Given the description of an element on the screen output the (x, y) to click on. 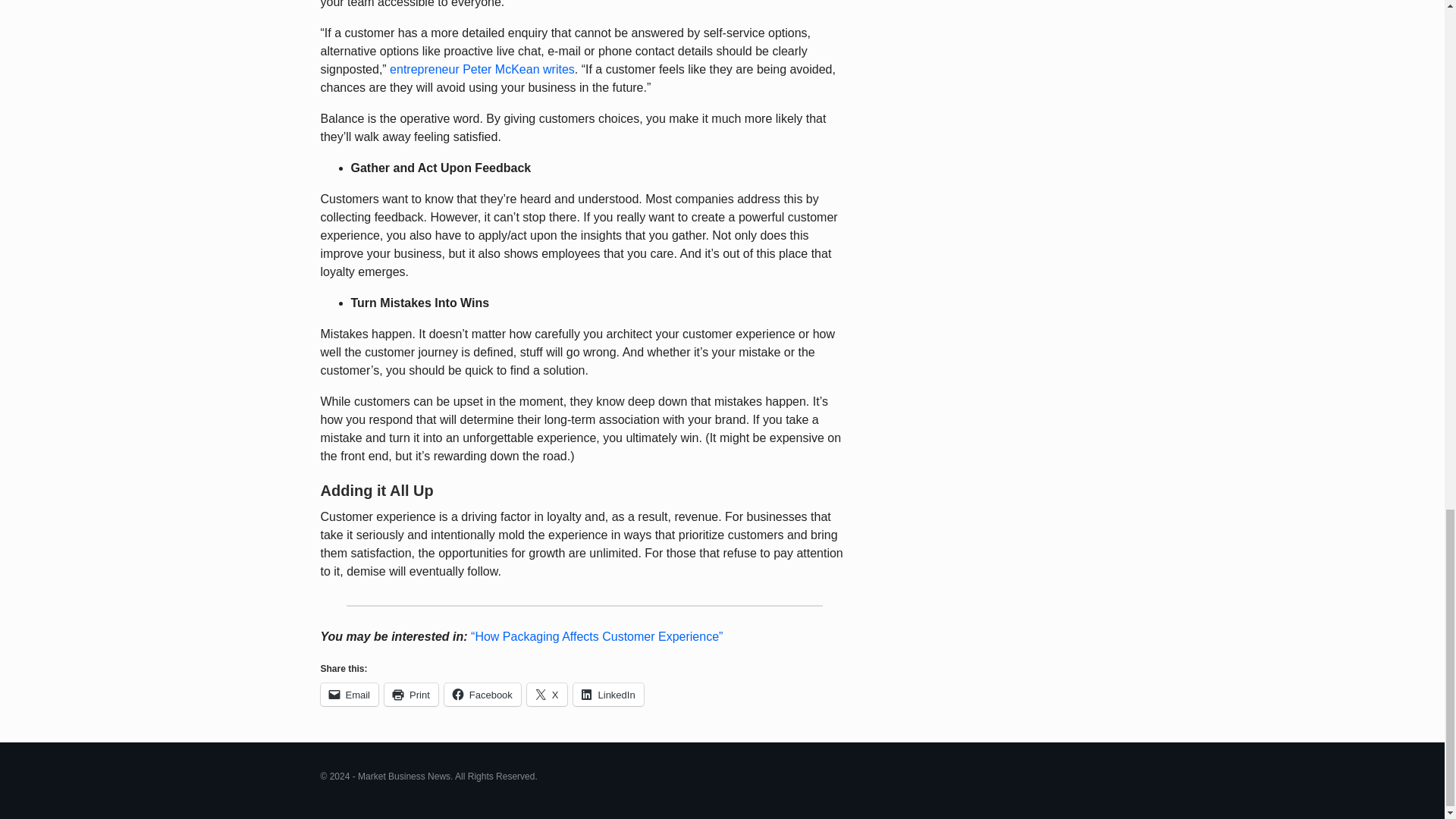
Facebook (482, 694)
Print (411, 694)
Click to print (411, 694)
Click to email a link to a friend (349, 694)
Email (349, 694)
LinkedIn (608, 694)
Click to share on Facebook (482, 694)
Click to share on LinkedIn (608, 694)
Click to share on X (547, 694)
X (547, 694)
entrepreneur Peter McKean writes (482, 69)
